Given the description of an element on the screen output the (x, y) to click on. 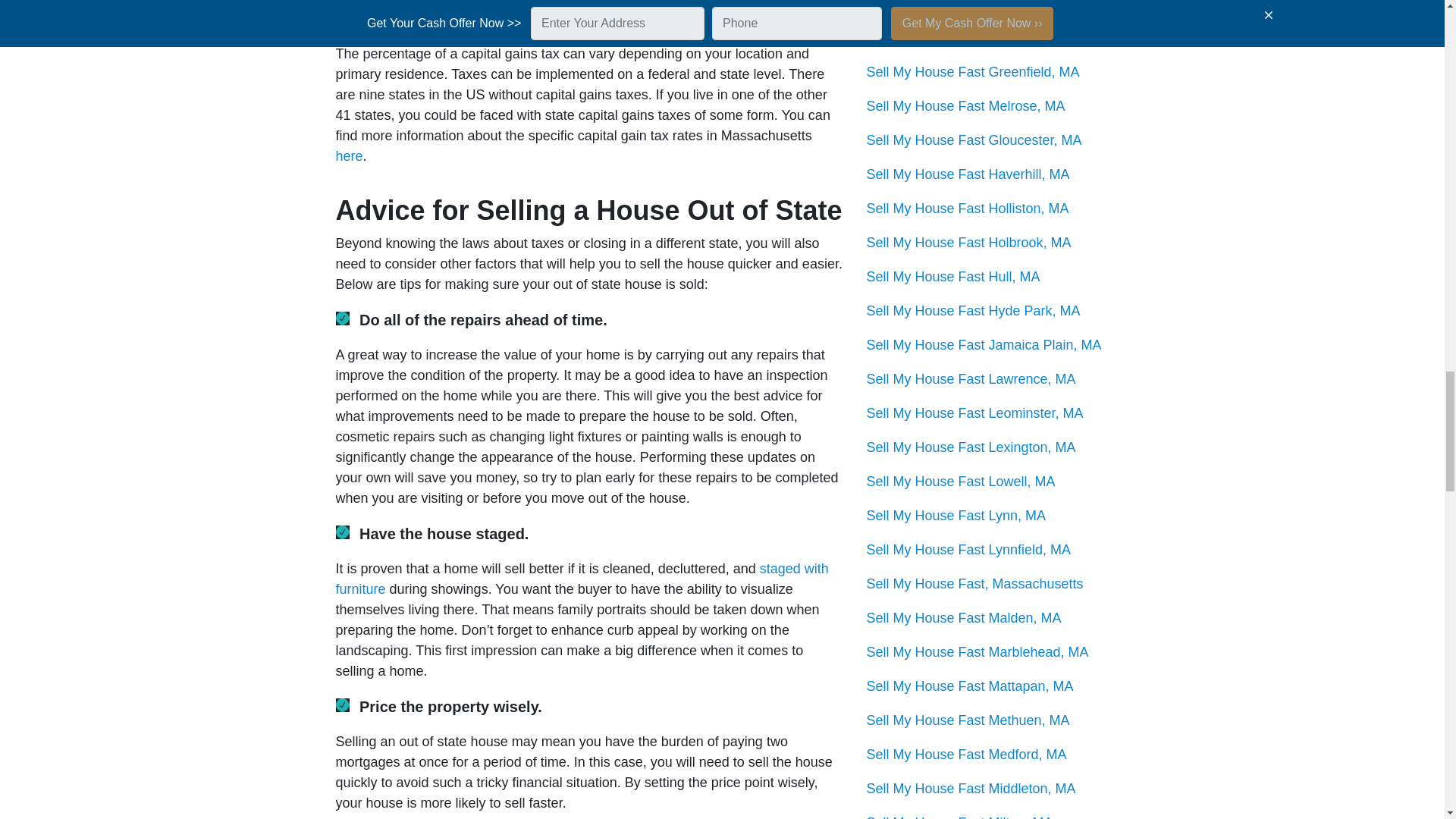
staged with furniture (581, 579)
here (348, 155)
